Given the description of an element on the screen output the (x, y) to click on. 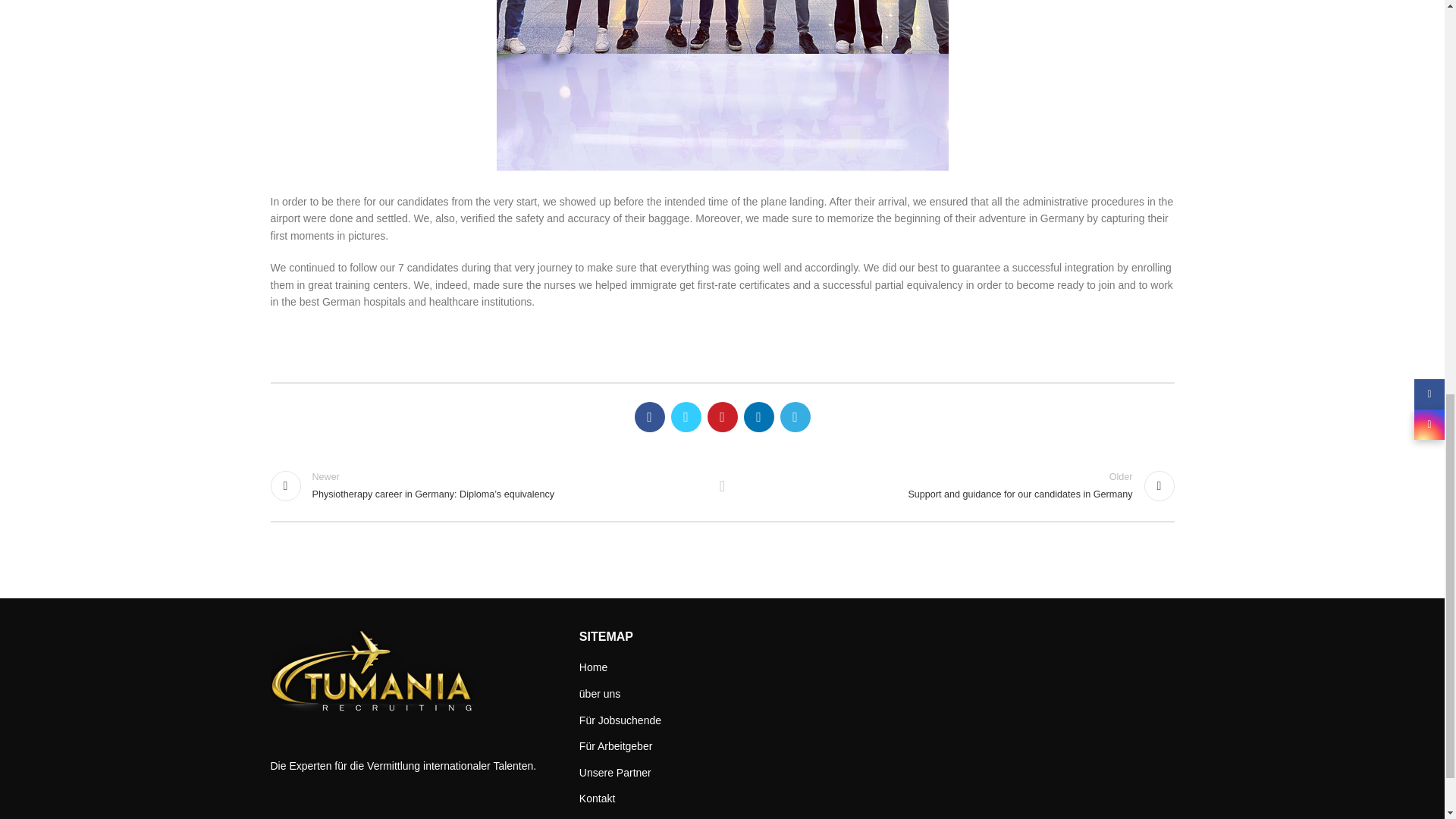
Kontakt (597, 798)
Unsere Partner (615, 773)
Home (955, 485)
Back to list (593, 667)
